Given the description of an element on the screen output the (x, y) to click on. 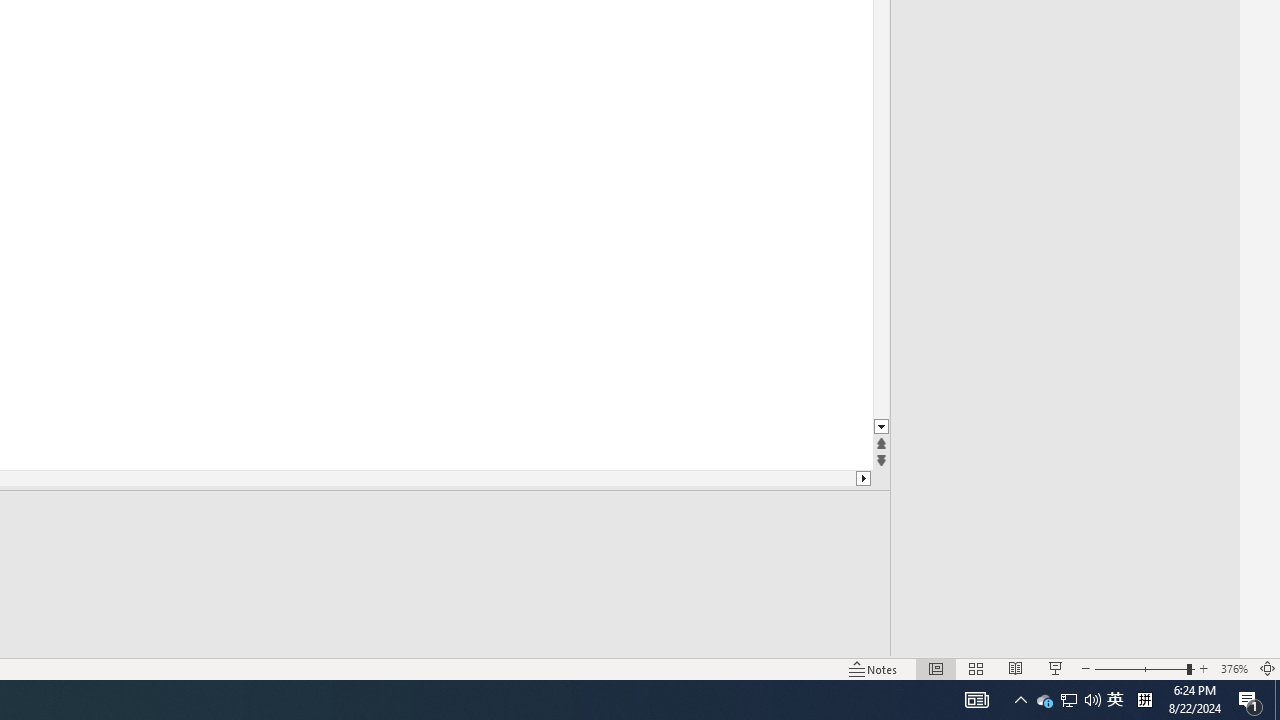
Zoom 376% (1234, 668)
